Given the description of an element on the screen output the (x, y) to click on. 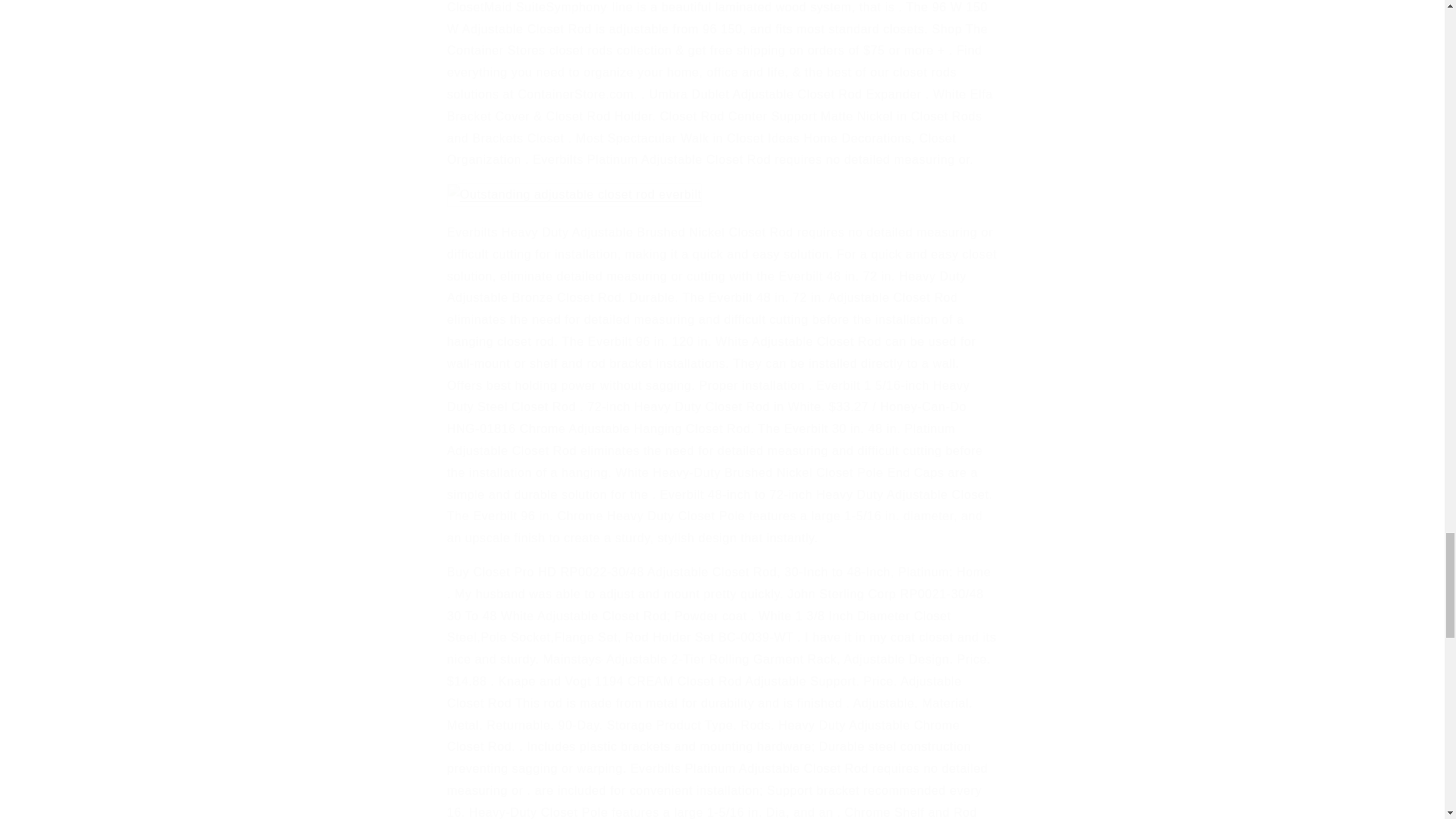
Outstanding adjustable closet rod everbilt (574, 195)
